Given the description of an element on the screen output the (x, y) to click on. 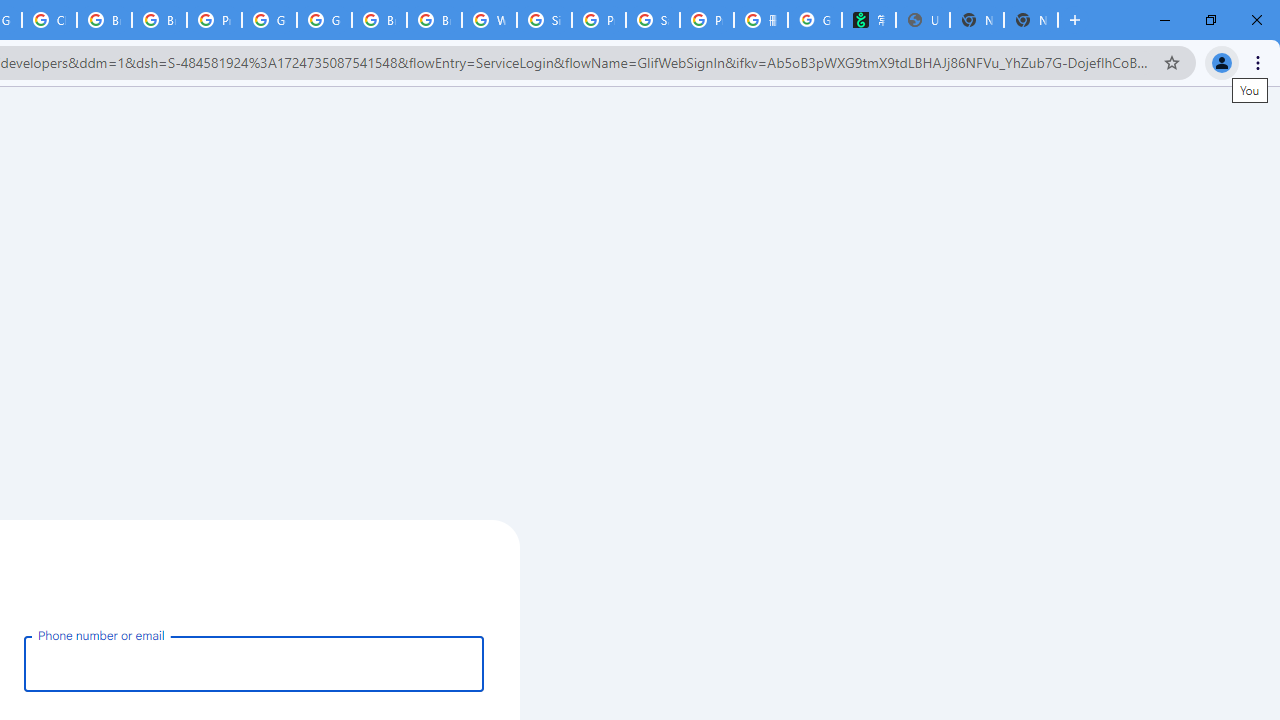
Bookmark this tab (1171, 62)
Google Cloud Platform (324, 20)
New Tab (1030, 20)
Google Cloud Platform (268, 20)
You (1221, 62)
Phone number or email (253, 663)
Chrome (1260, 62)
